Given the description of an element on the screen output the (x, y) to click on. 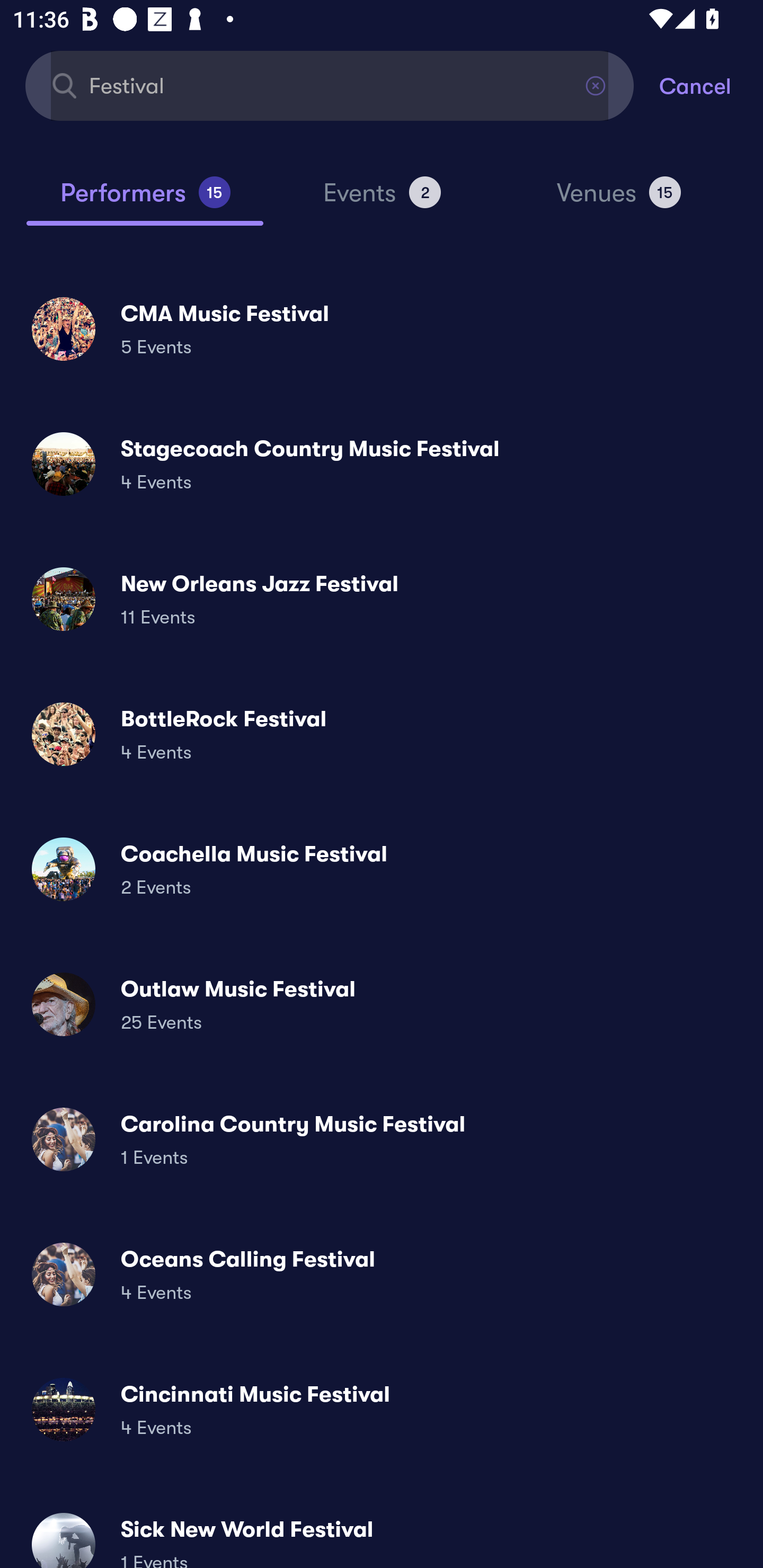
Festival Find (329, 85)
Festival Find (329, 85)
Cancel (711, 85)
Performers 15 (144, 200)
Events 2 (381, 200)
Venues 15 (618, 200)
CMA Music Festival 5 Events (381, 328)
Stagecoach Country Music Festival 4 Events (381, 464)
New Orleans Jazz Festival 11 Events (381, 598)
BottleRock Festival 4 Events (381, 734)
Coachella Music Festival 2 Events (381, 869)
Outlaw Music Festival 25 Events (381, 1004)
Carolina Country Music Festival 1 Events (381, 1138)
Oceans Calling Festival 4 Events (381, 1273)
Cincinnati Music Festival 4 Events (381, 1409)
Sick New World Festival 1 Events (381, 1532)
